Given the description of an element on the screen output the (x, y) to click on. 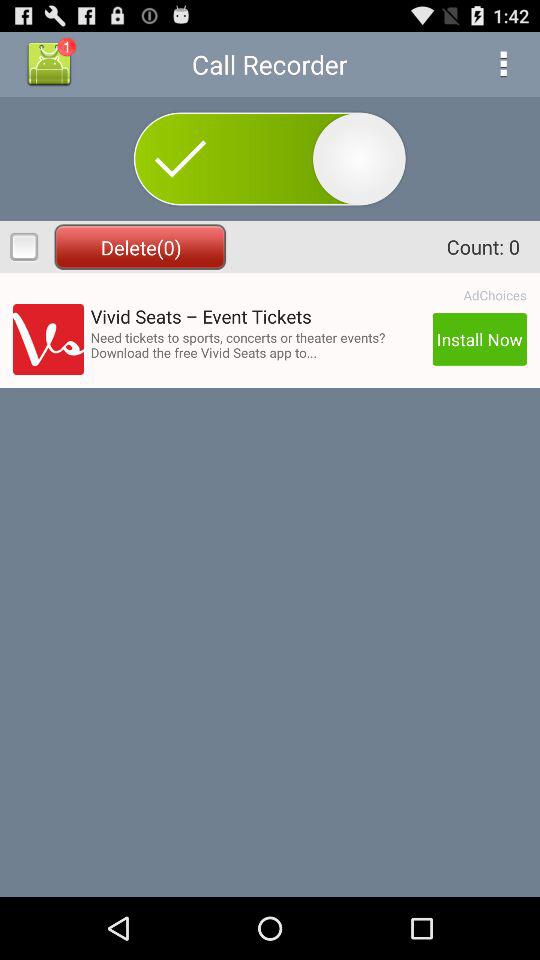
choose adchoices (494, 295)
